Given the description of an element on the screen output the (x, y) to click on. 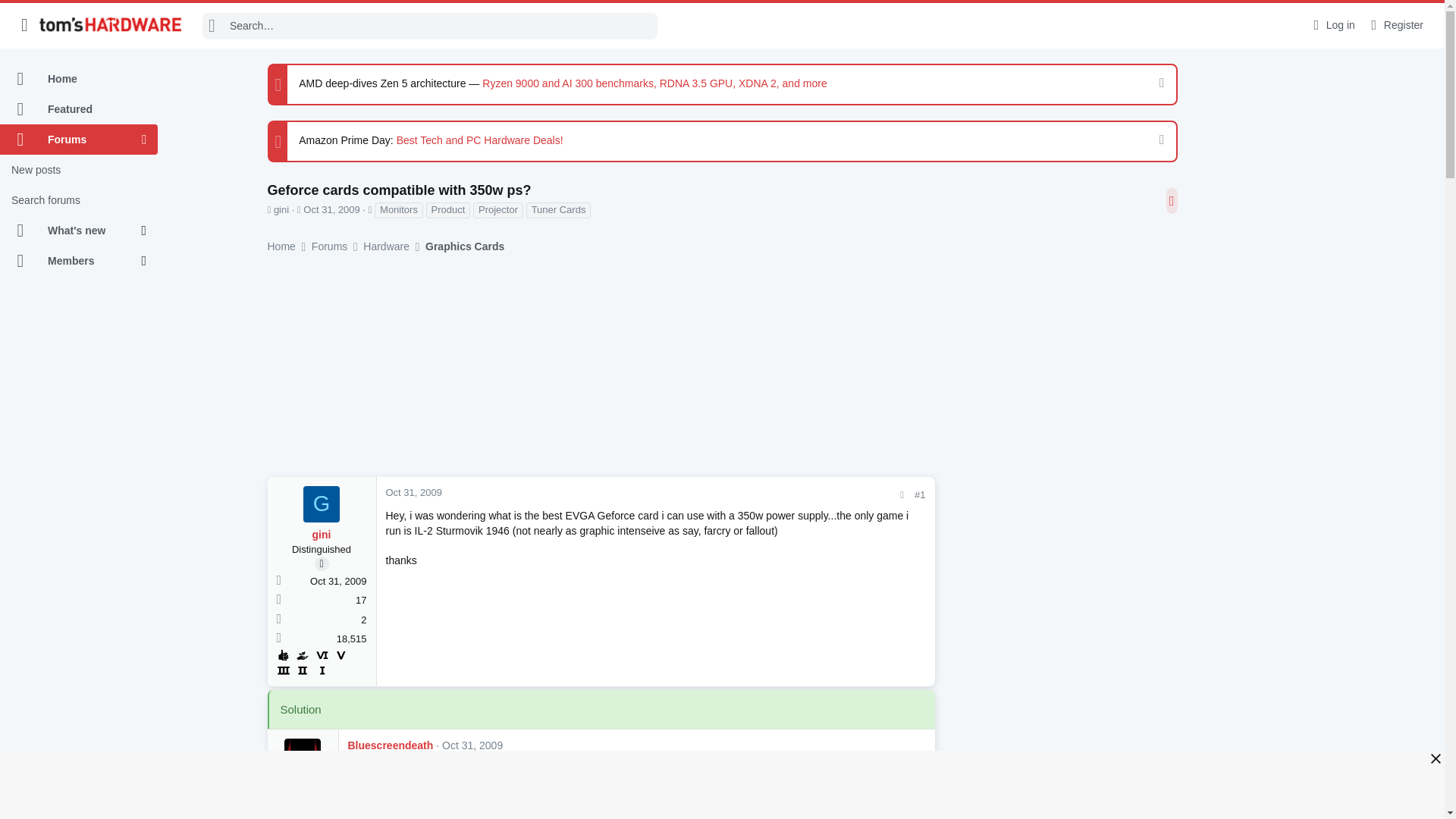
Oct 31, 2009 at 10:55 PM (413, 491)
Home (78, 78)
Oct 31, 2009 at 11:10 PM (472, 745)
Forums (70, 139)
Search forums (78, 200)
Log in (1332, 24)
Register (1395, 24)
What's new (70, 230)
Oct 31, 2009 at 10:55 PM (330, 209)
New posts (78, 169)
Featured (78, 109)
